Given the description of an element on the screen output the (x, y) to click on. 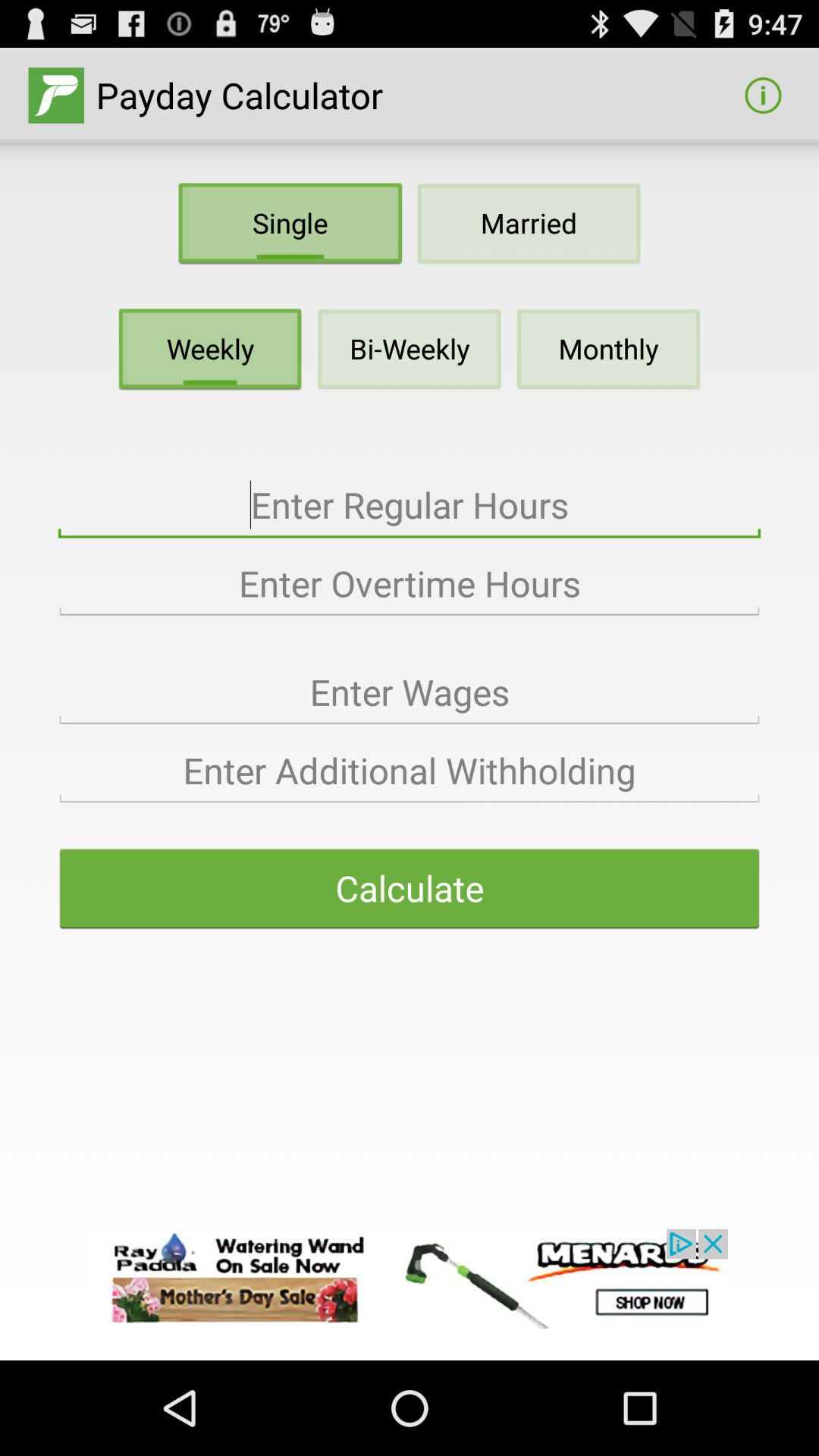
enter wages (409, 692)
